Given the description of an element on the screen output the (x, y) to click on. 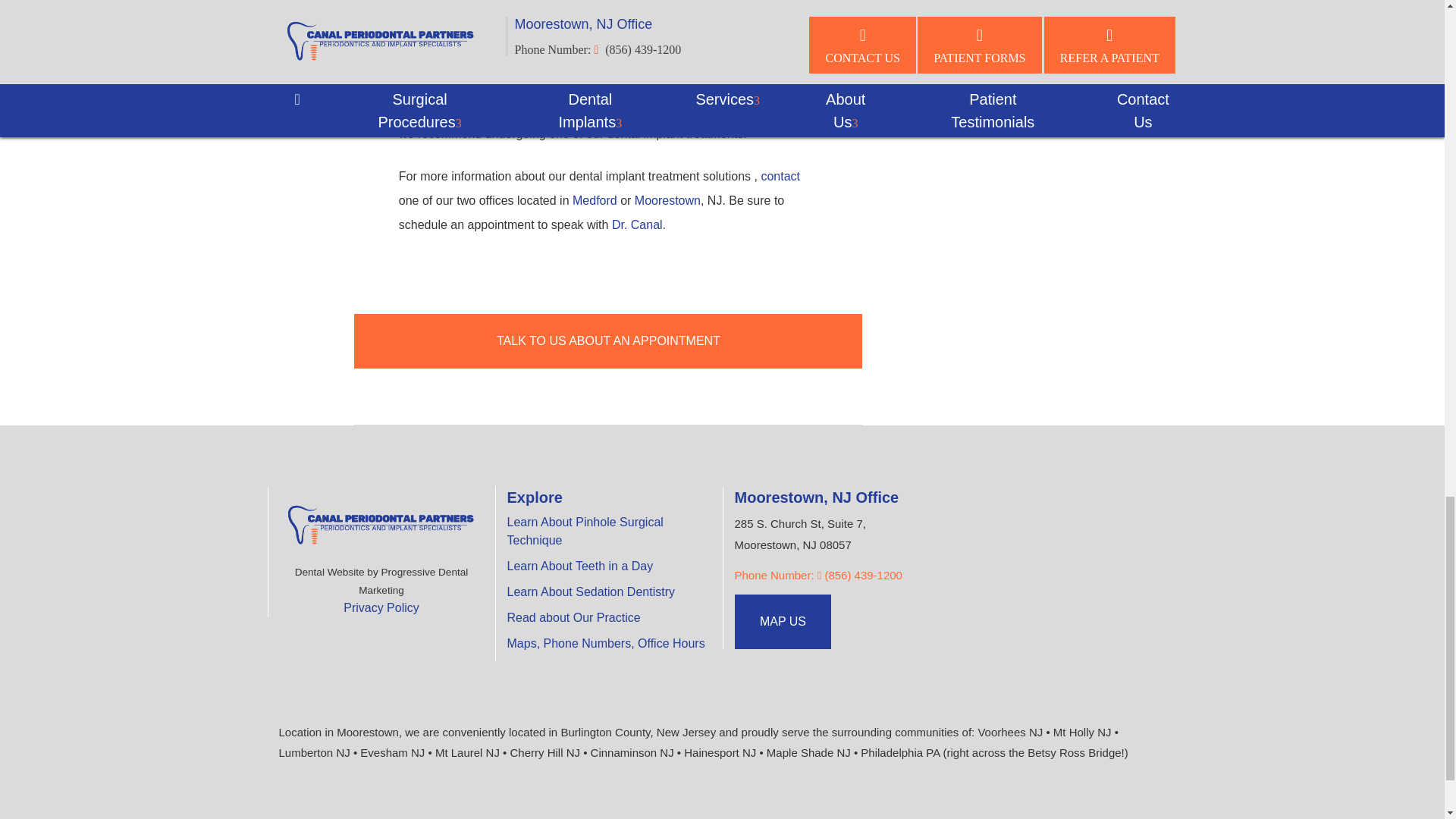
Implant Supported Dentures  (505, 52)
contact (779, 175)
Call 856-203-6588 (817, 574)
